Given the description of an element on the screen output the (x, y) to click on. 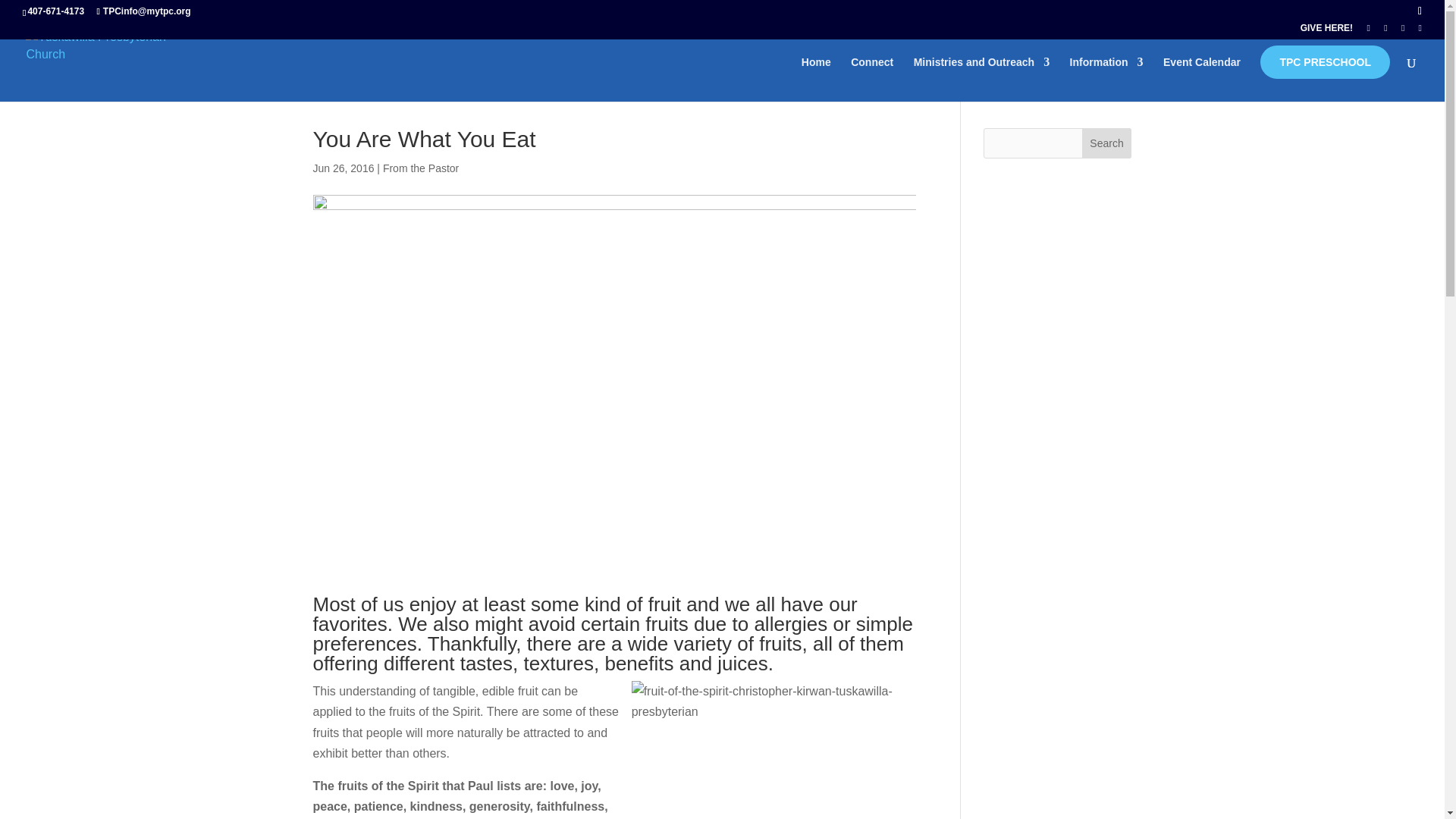
Search (1106, 142)
Connect (871, 78)
Information (1106, 78)
Event Calendar (1201, 78)
GIVE HERE! (1326, 31)
TPC PRESCHOOL (1325, 61)
Ministries and Outreach (981, 78)
From the Pastor (420, 168)
